Given the description of an element on the screen output the (x, y) to click on. 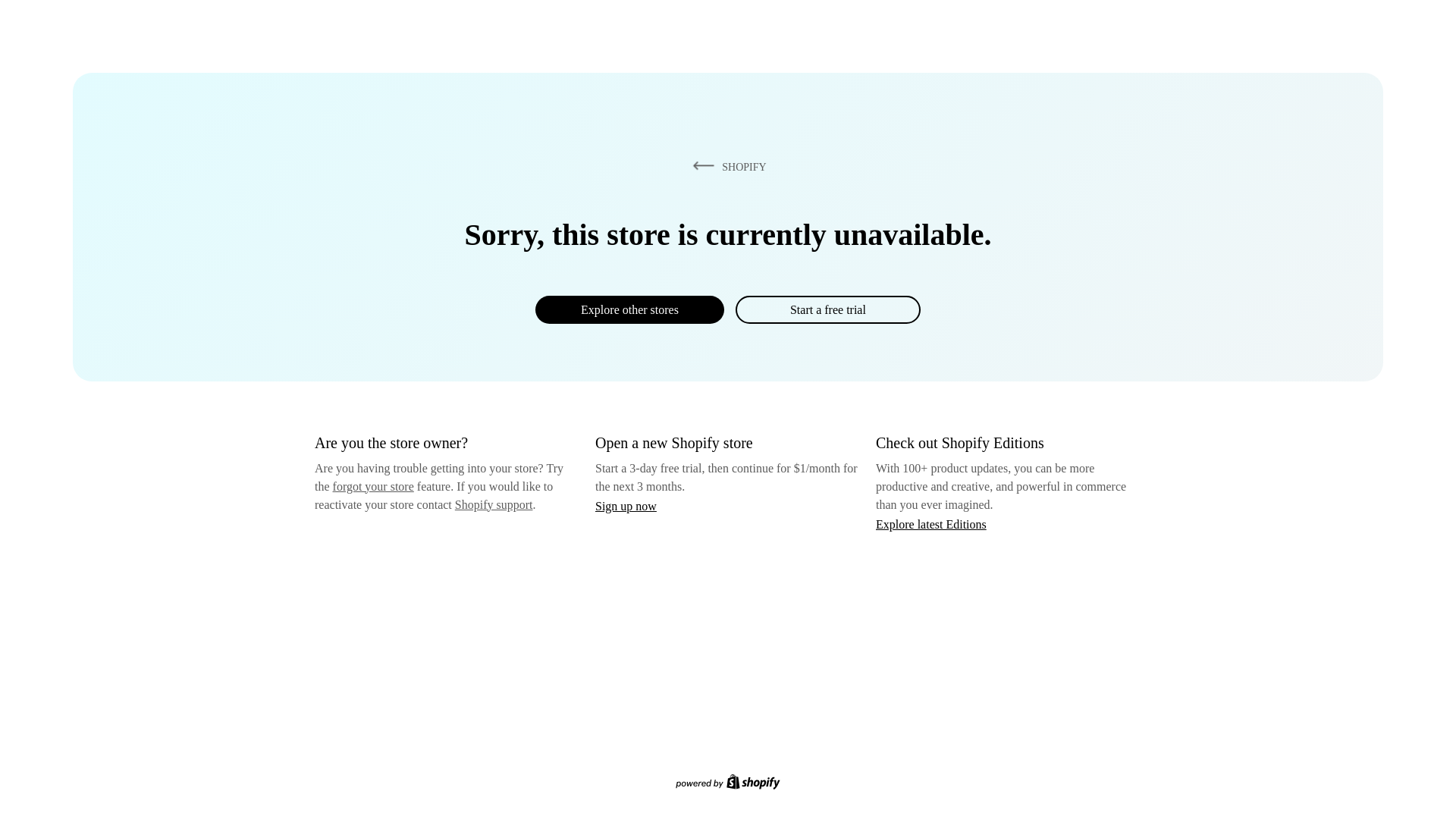
Start a free trial (827, 309)
Sign up now (625, 505)
Explore latest Editions (931, 523)
SHOPIFY (726, 166)
forgot your store (373, 486)
Shopify support (493, 504)
Explore other stores (629, 309)
